Given the description of an element on the screen output the (x, y) to click on. 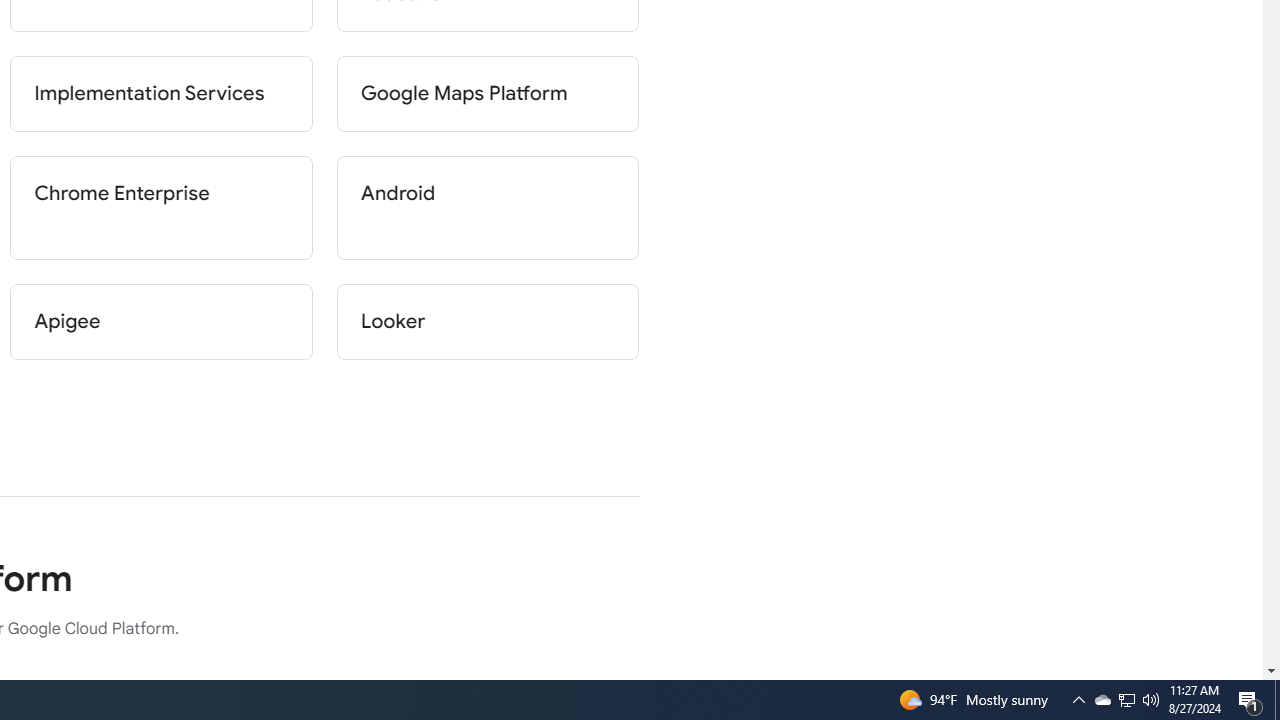
Google Maps Platform (487, 93)
Apigee (161, 321)
Chrome Enterprise (161, 207)
Android (487, 207)
Looker (487, 321)
Implementation Services (161, 93)
